Given the description of an element on the screen output the (x, y) to click on. 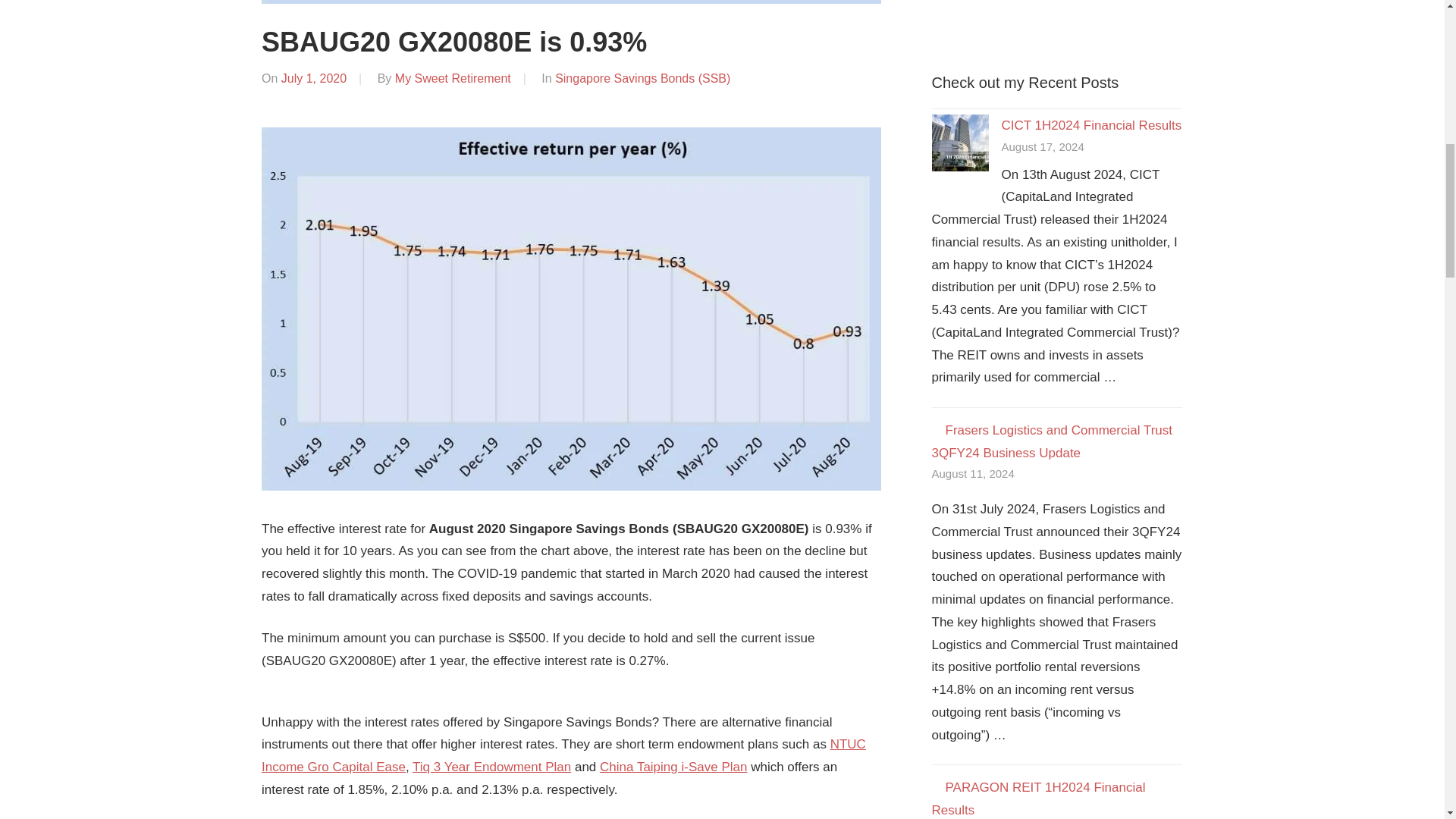
View all posts by My Sweet Retirement (452, 78)
PARAGON REIT 1H2024 Financial Results (1037, 798)
China Taiping i-Save Plan (672, 766)
CICT 1H2024 Financial Results (1090, 124)
My Sweet Retirement (452, 78)
Subscribe (981, 1)
Tiq 3 Year Endowment Plan (491, 766)
9:58 pm (313, 78)
July 1, 2020 (313, 78)
NTUC Income Gro Capital Ease (564, 755)
